Given the description of an element on the screen output the (x, y) to click on. 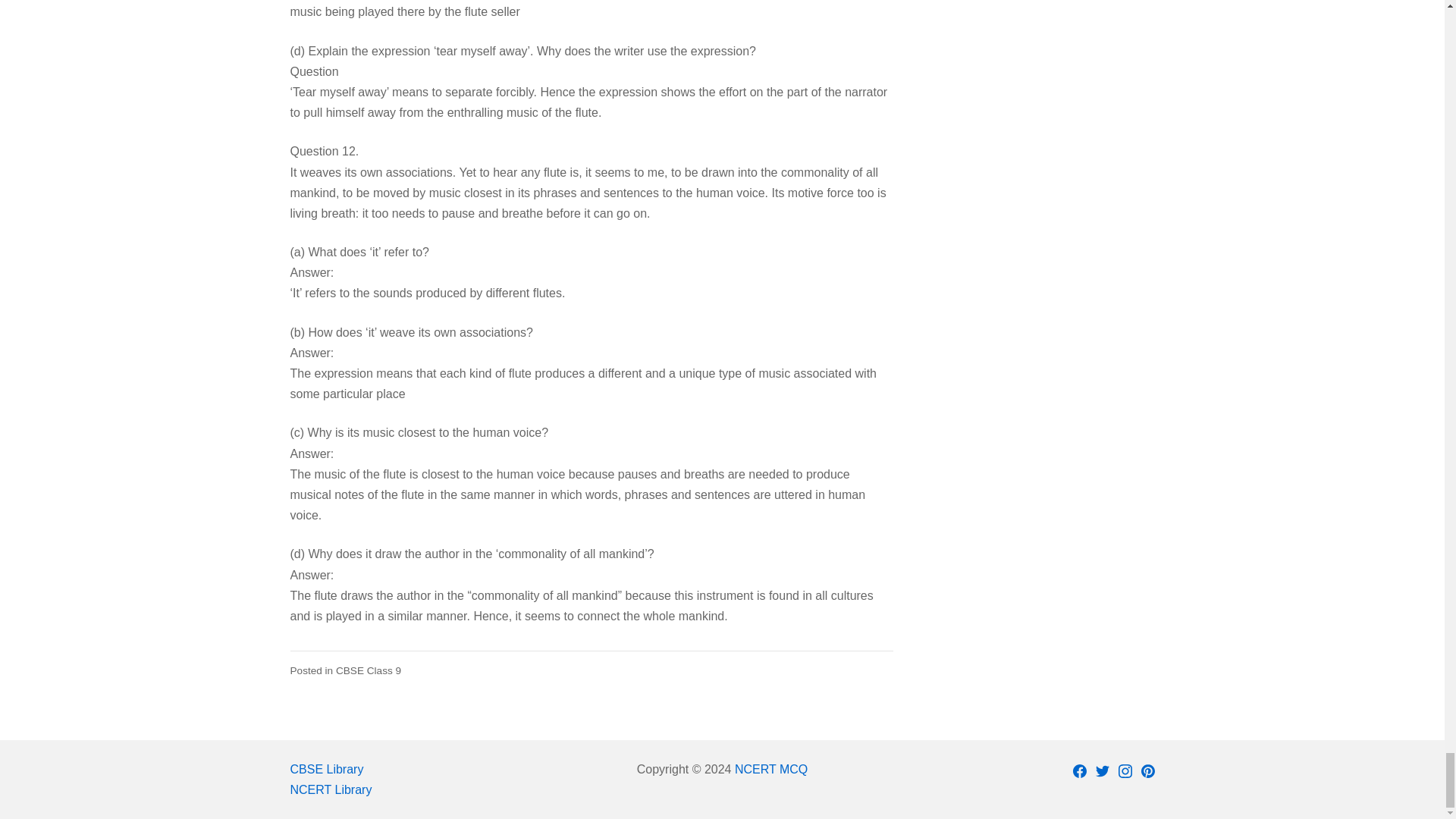
Instagram (1125, 771)
Pinterest (1147, 771)
Instagram icon (1125, 771)
Twitter (1102, 771)
Pinterest icon (1147, 771)
Facebook (1079, 771)
Twitter icon (1102, 771)
